Given the description of an element on the screen output the (x, y) to click on. 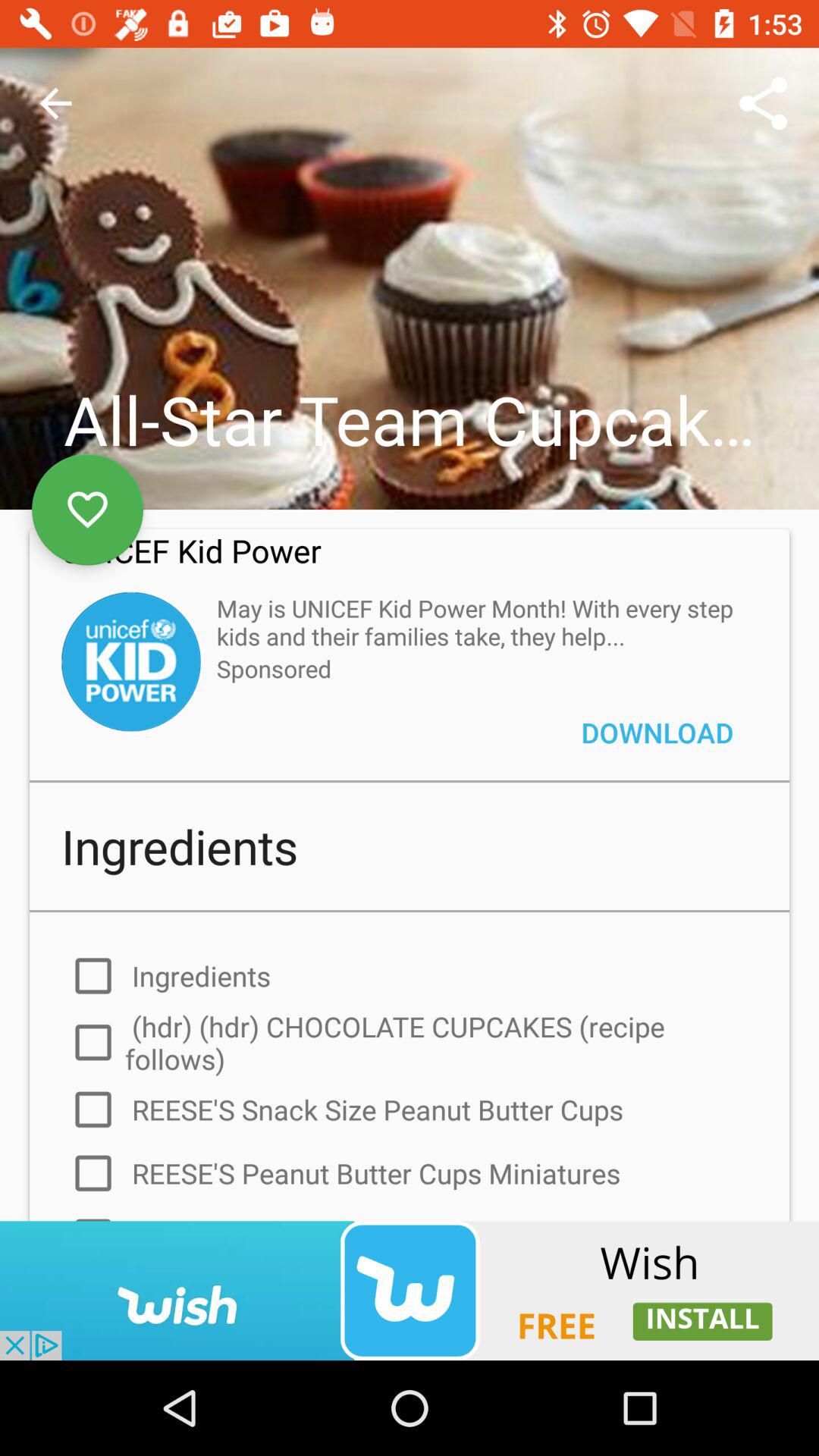
wishlist (87, 509)
